Given the description of an element on the screen output the (x, y) to click on. 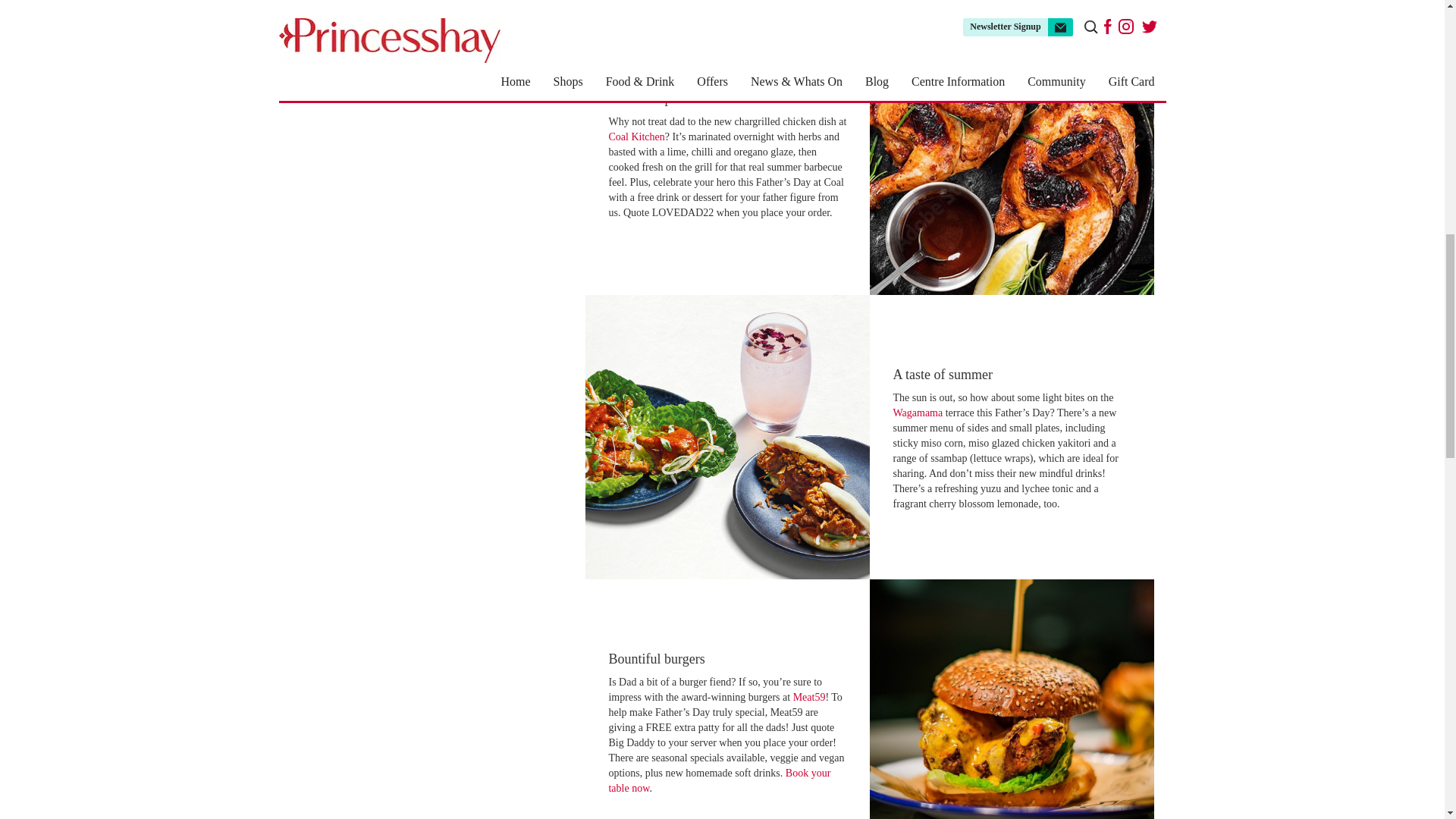
Meat59 (809, 696)
Book your table now (718, 780)
Coal Kitchen (635, 136)
Wagamama (917, 412)
